Given the description of an element on the screen output the (x, y) to click on. 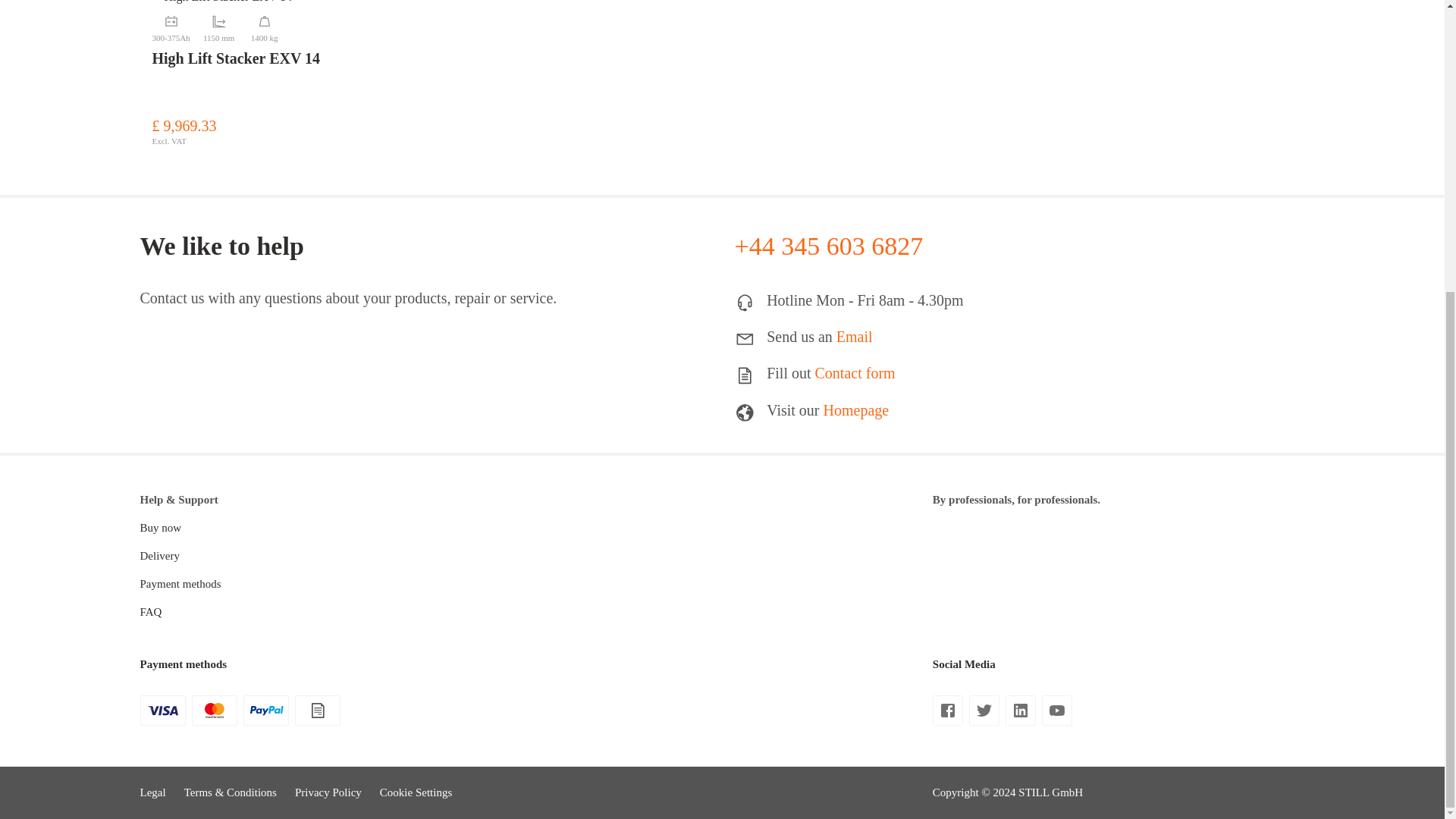
Payment methods (180, 583)
Twitter (983, 712)
Battery (170, 26)
YouTube (1056, 712)
Email (853, 336)
Credit Card (212, 707)
Buy now (159, 527)
Credit Card (161, 707)
Load Capacity (264, 26)
High Lift Stacker EXV 14 (221, 2)
